Given the description of an element on the screen output the (x, y) to click on. 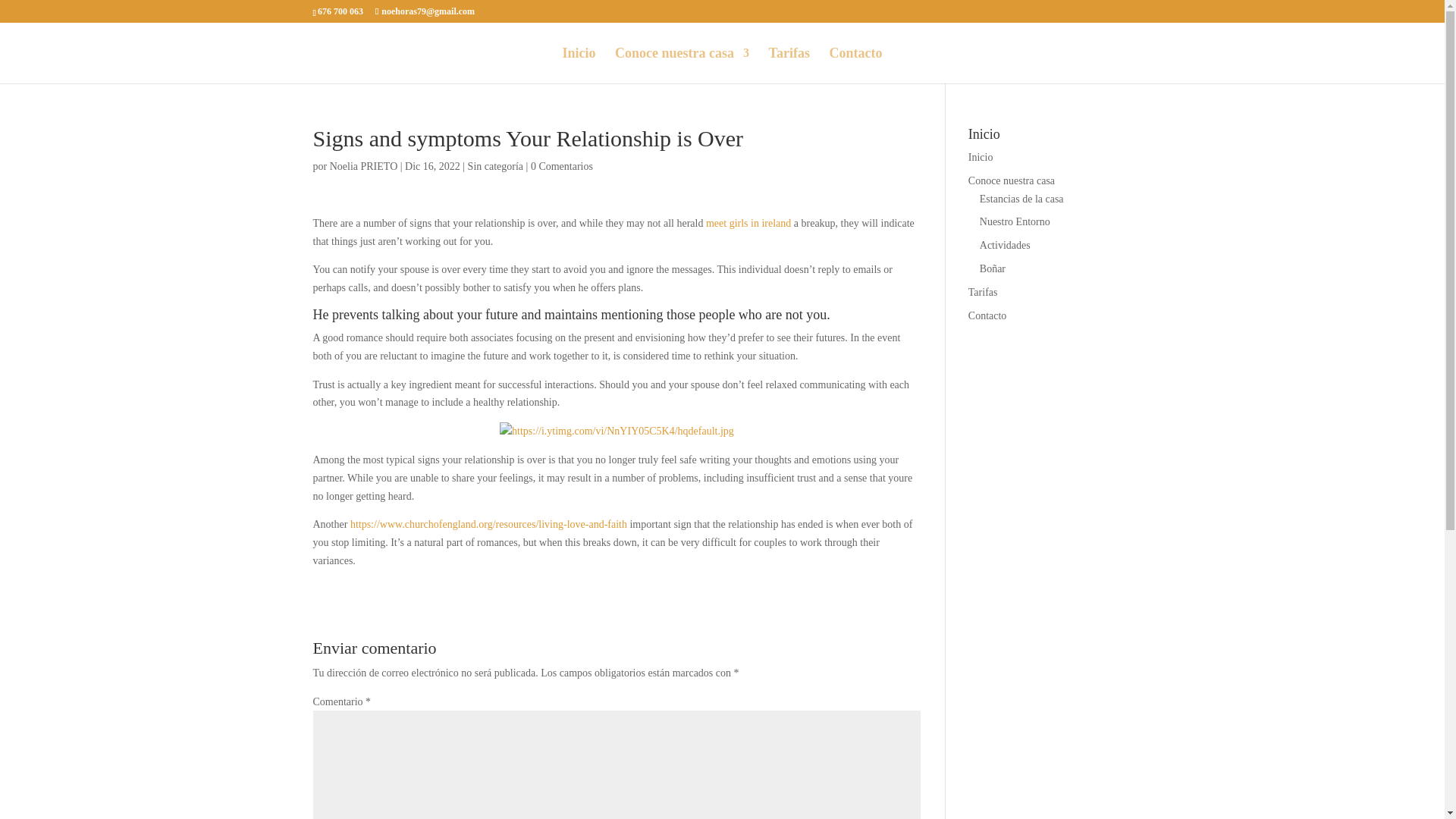
Nuestro Entorno (1014, 221)
Tarifas (788, 65)
Noelia PRIETO (363, 165)
Inicio (980, 156)
meet girls in ireland (748, 223)
Contacto (987, 315)
Mensajes de Noelia PRIETO (363, 165)
Contacto (855, 65)
Actividades (1004, 244)
Conoce nuestra casa (1011, 180)
Conoce nuestra casa (681, 65)
0 Comentarios (561, 165)
Tarifas (982, 292)
Inicio (578, 65)
Estancias de la casa (1021, 198)
